Given the description of an element on the screen output the (x, y) to click on. 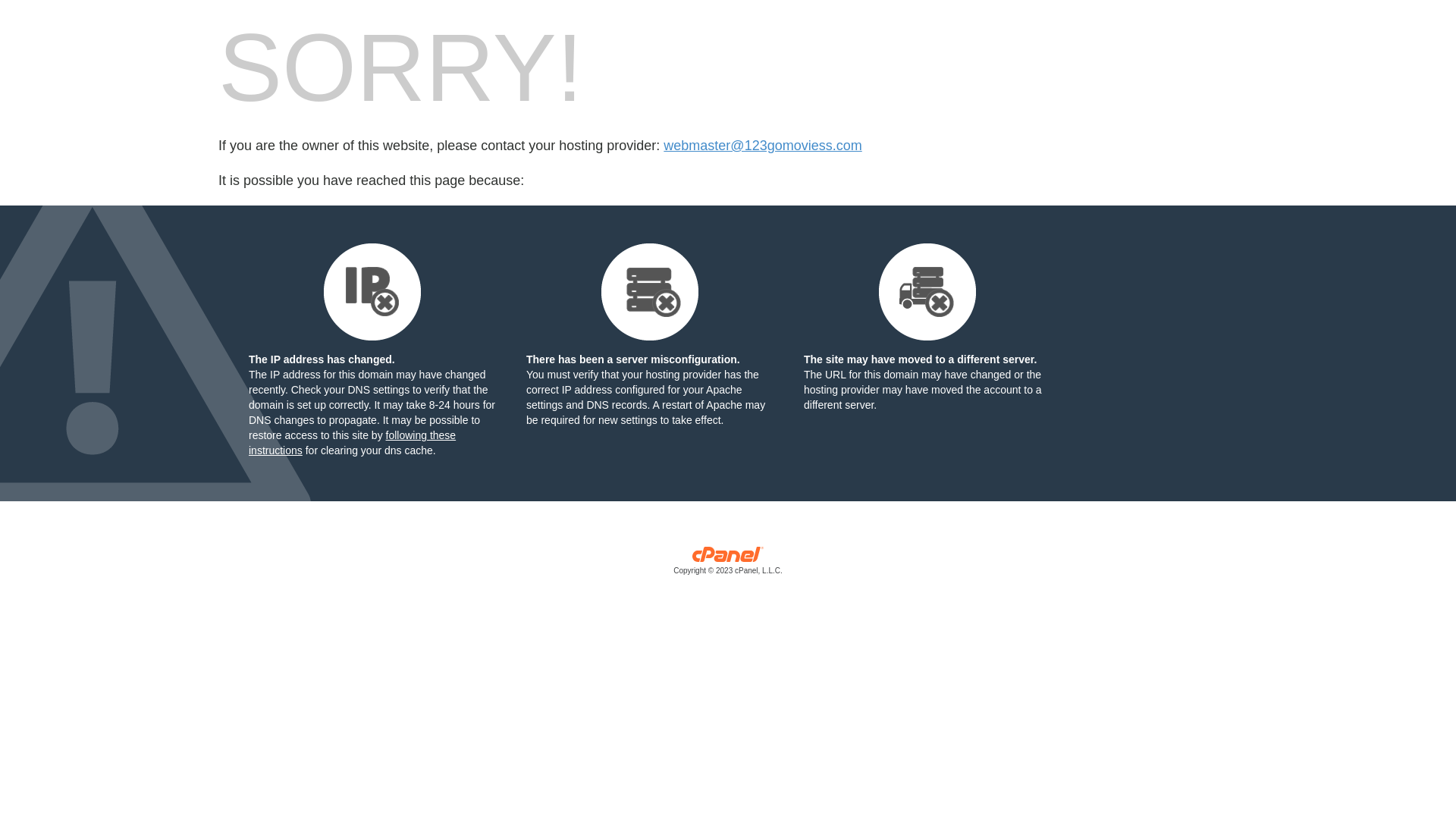
webmaster@123gomoviess.com Element type: text (762, 145)
following these instructions Element type: text (351, 442)
